Given the description of an element on the screen output the (x, y) to click on. 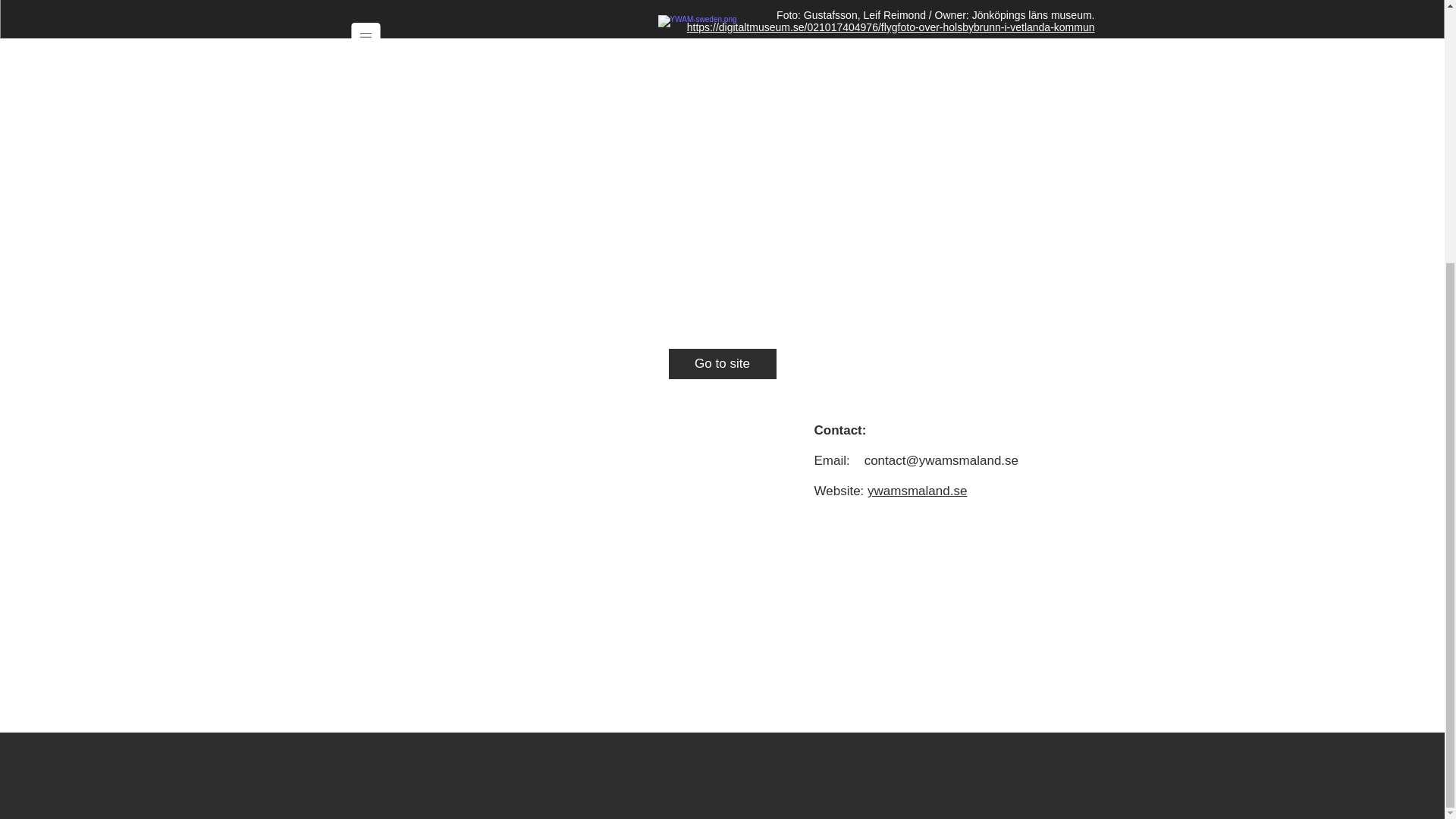
Go to site (722, 363)
ywamsmaland.se (916, 490)
